Given the description of an element on the screen output the (x, y) to click on. 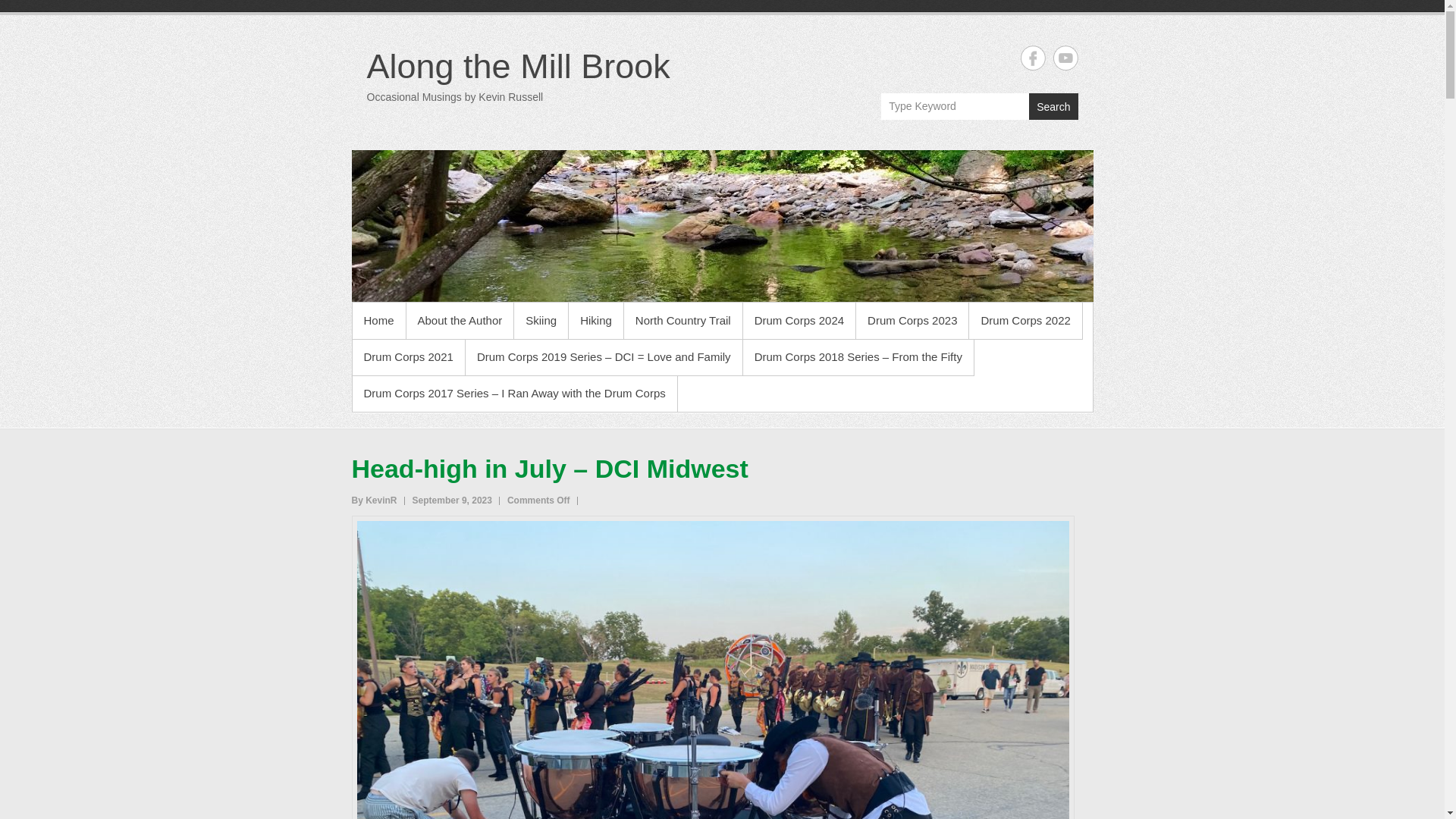
Search (1053, 106)
Along the Mill Brook on Facebook (1032, 57)
Home (378, 320)
Along the Mill Brook (517, 65)
About the Author (459, 320)
Skiing (540, 320)
Type Keyword (955, 105)
Drum Corps 2022 (1025, 320)
Along the Mill Brook on YouTube (1064, 57)
Type Keyword (955, 105)
Drum Corps 2024 (799, 320)
Drum Corps 2023 (912, 320)
Along the Mill Brook (722, 225)
Type Keyword (955, 105)
KevinR (374, 500)
